Given the description of an element on the screen output the (x, y) to click on. 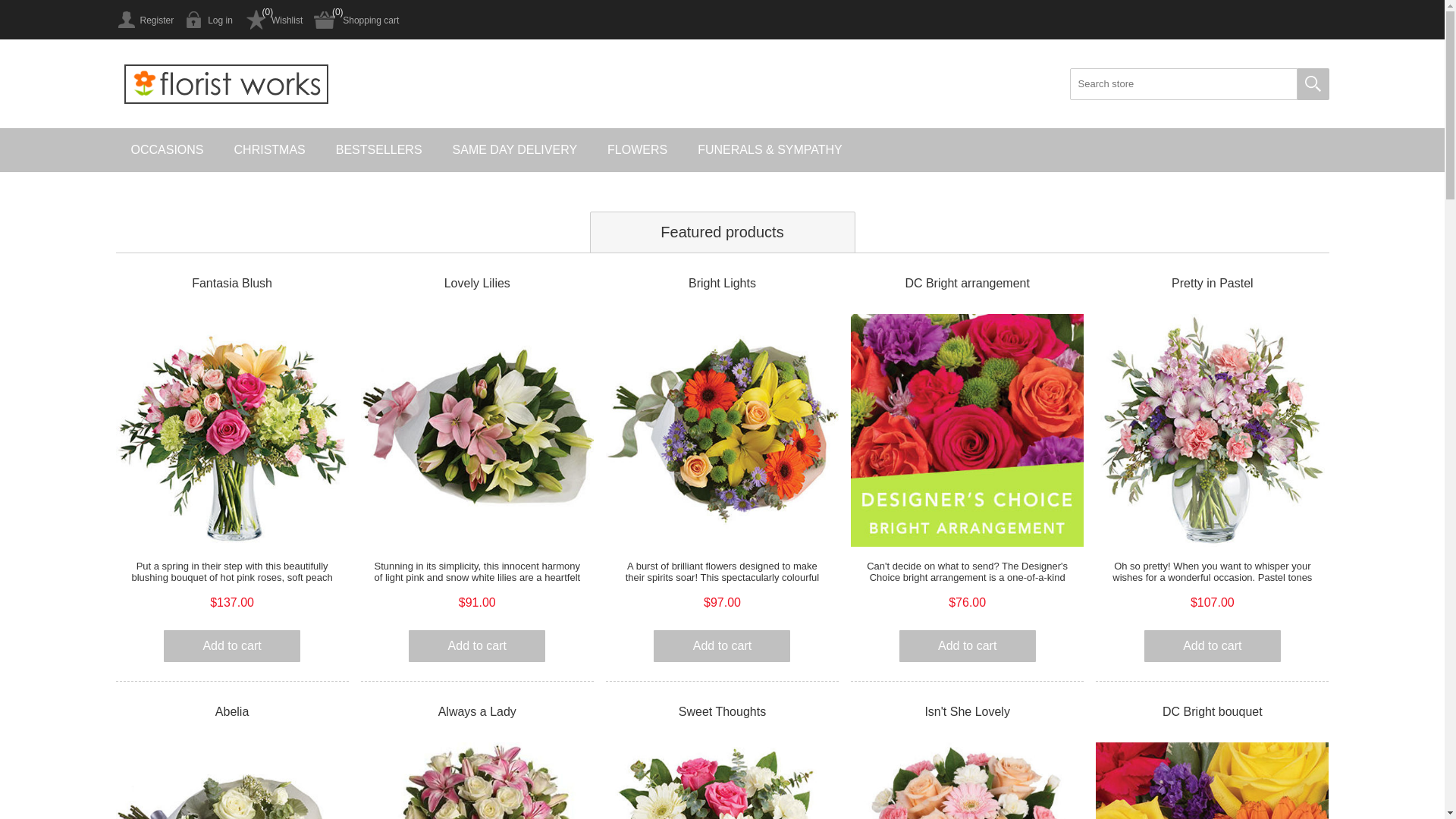
Search Element type: text (1312, 84)
Wishlist Element type: text (273, 19)
Add to cart Element type: text (476, 646)
FLOWERS Element type: text (637, 150)
Add to cart Element type: text (967, 646)
Show details for Fantasia Blush Element type: hover (232, 429)
Add to cart Element type: text (231, 646)
Show details for Bright Lights Element type: hover (721, 429)
Always a Lady Element type: text (476, 711)
Show details for Lovely Lilies Element type: hover (476, 429)
CHRISTMAS Element type: text (269, 150)
Abelia Element type: text (232, 711)
OCCASIONS Element type: text (166, 150)
Show details for DC Bright arrangement Element type: hover (966, 429)
BESTSELLERS Element type: text (378, 150)
Lovely Lilies Element type: text (476, 283)
SAME DAY DELIVERY Element type: text (515, 150)
FUNERALS & SYMPATHY Element type: text (769, 150)
Show details for Pretty in Pastel Element type: hover (1211, 429)
Isn't She Lovely Element type: text (966, 711)
Fantasia Blush Element type: text (232, 283)
DC Bright arrangement Element type: text (966, 283)
Sweet Thoughts Element type: text (721, 711)
Add to cart Element type: text (721, 646)
Add to cart Element type: text (1212, 646)
Pretty in Pastel Element type: text (1211, 283)
Bright Lights Element type: text (721, 283)
Shopping cart Element type: text (355, 19)
Log in Element type: text (208, 19)
DC Bright bouquet Element type: text (1211, 711)
Register Element type: text (144, 19)
